Given the description of an element on the screen output the (x, y) to click on. 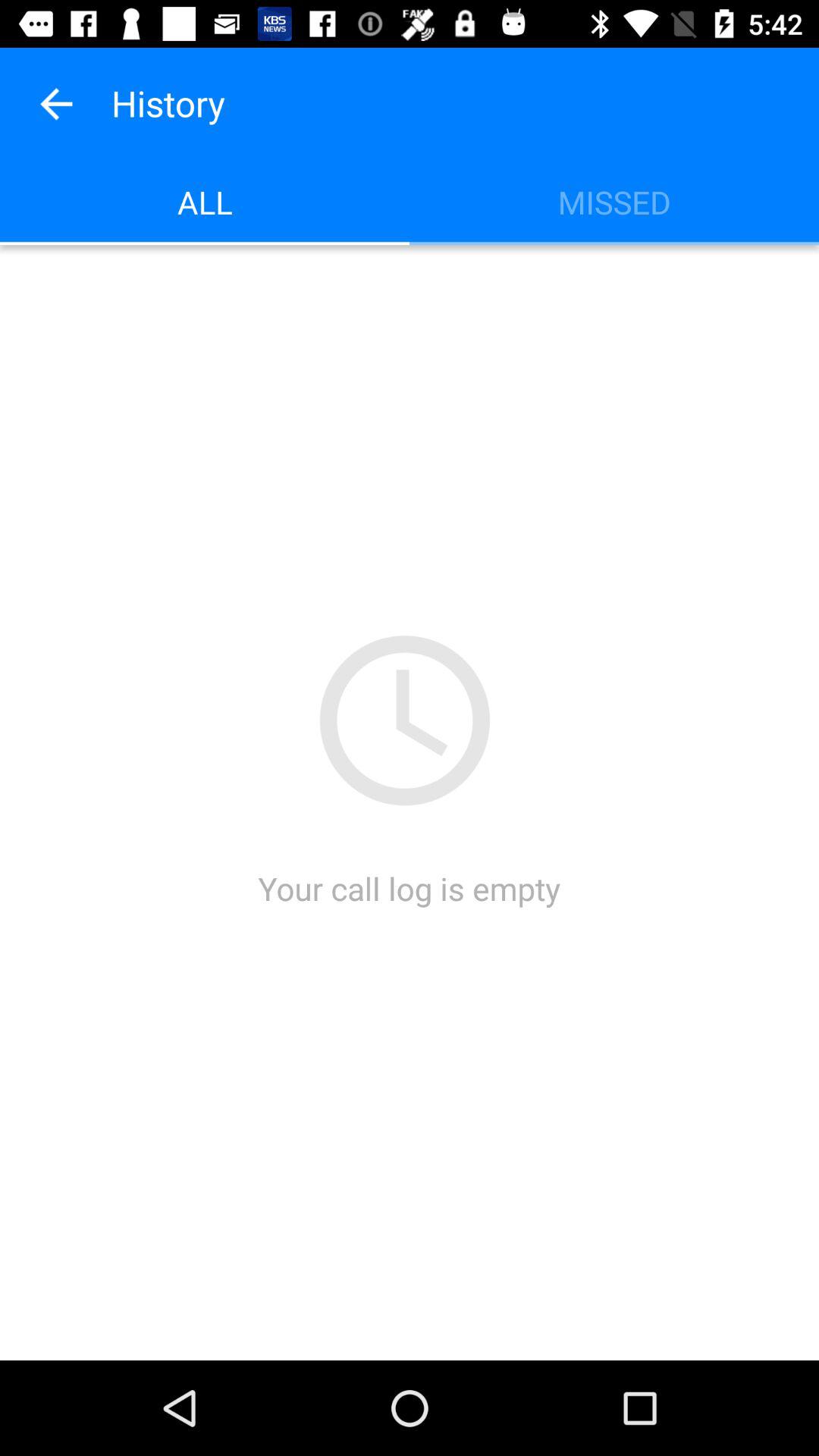
turn off icon to the right of all icon (614, 202)
